Given the description of an element on the screen output the (x, y) to click on. 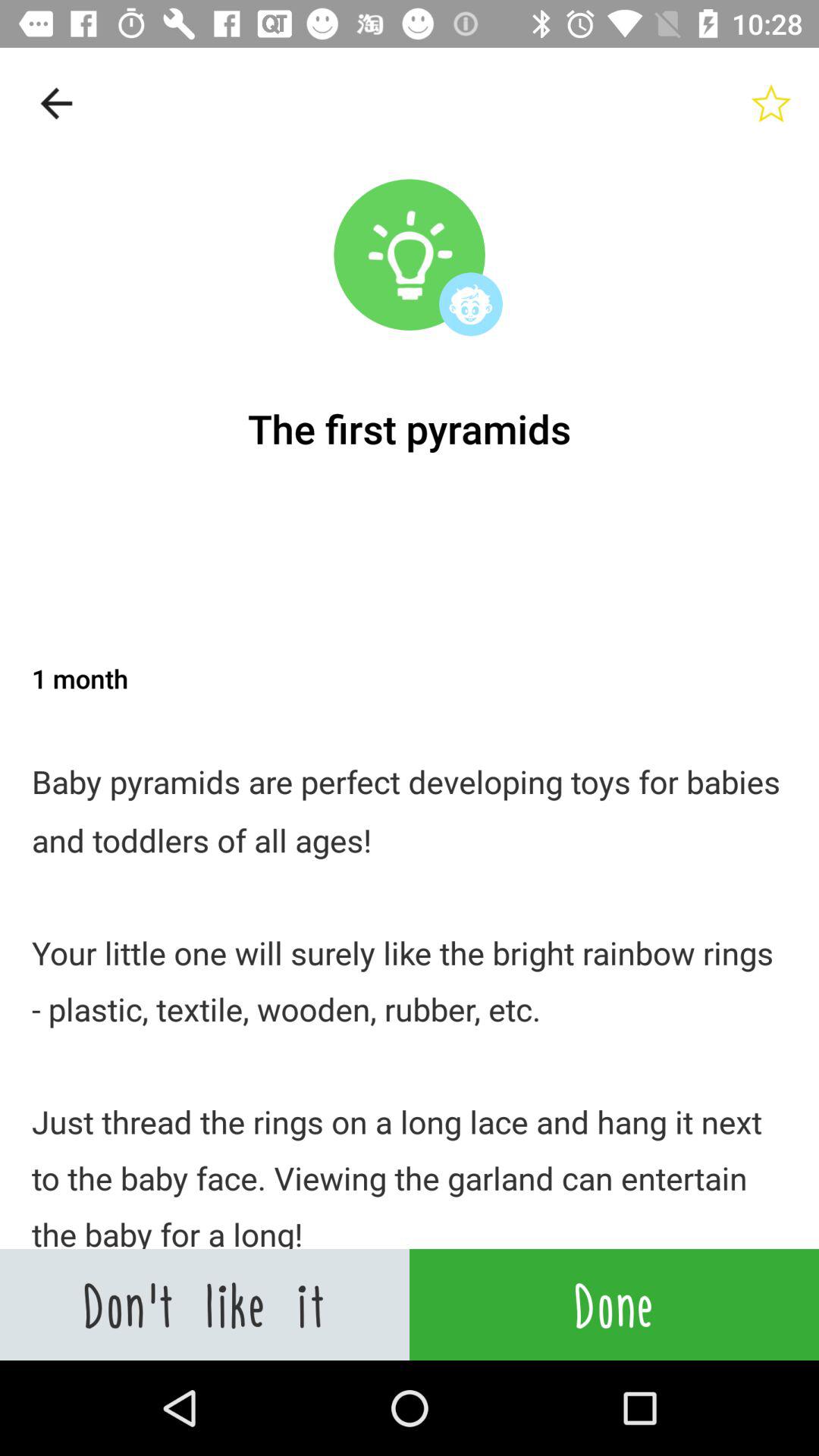
select the icon next to the done icon (204, 1304)
